Given the description of an element on the screen output the (x, y) to click on. 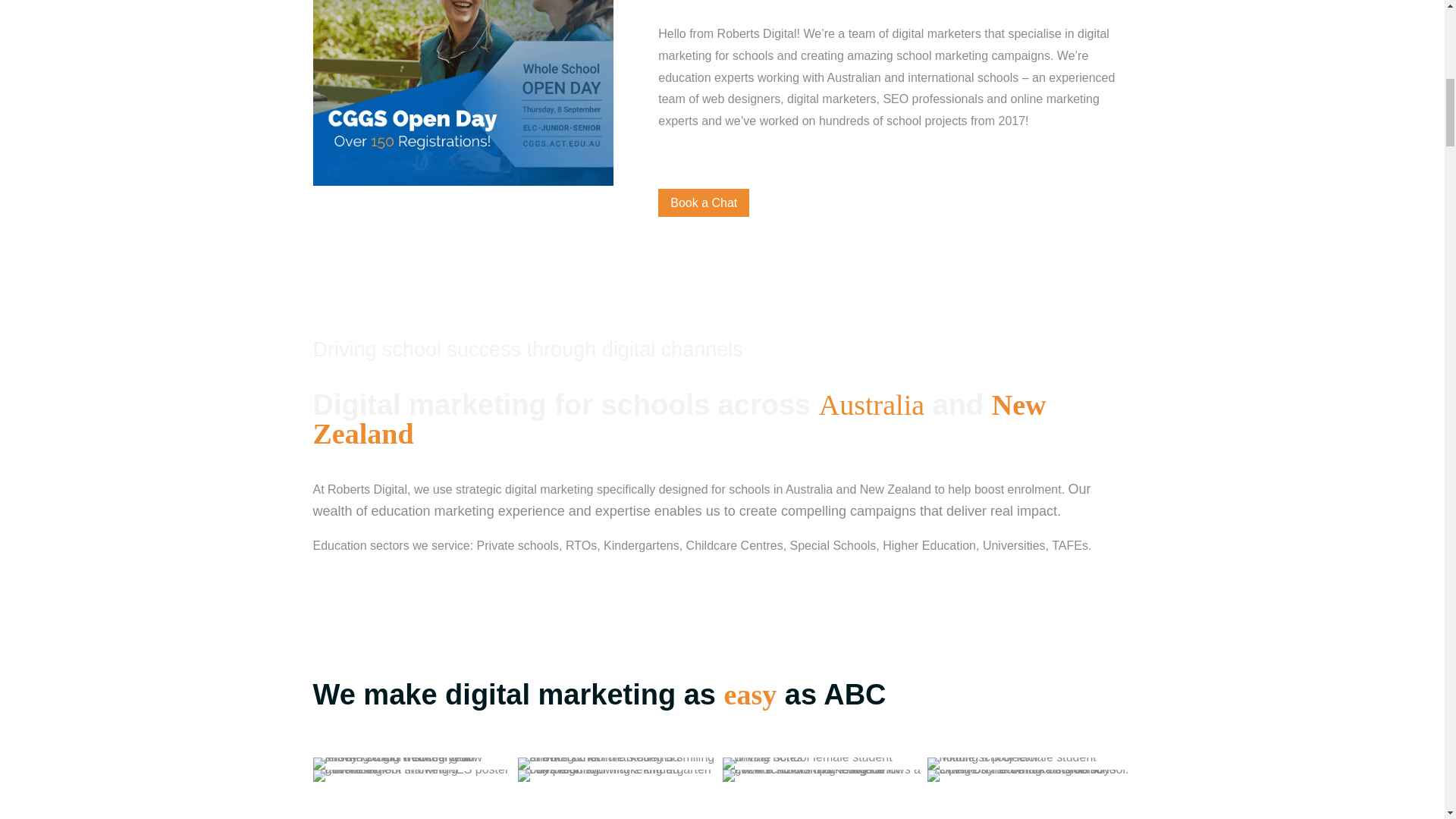
ezgif.com-animated-gif-maker (462, 92)
Video-stills-08 (1028, 763)
Up-date-queendom-creative-new-2 (414, 763)
